Given the description of an element on the screen output the (x, y) to click on. 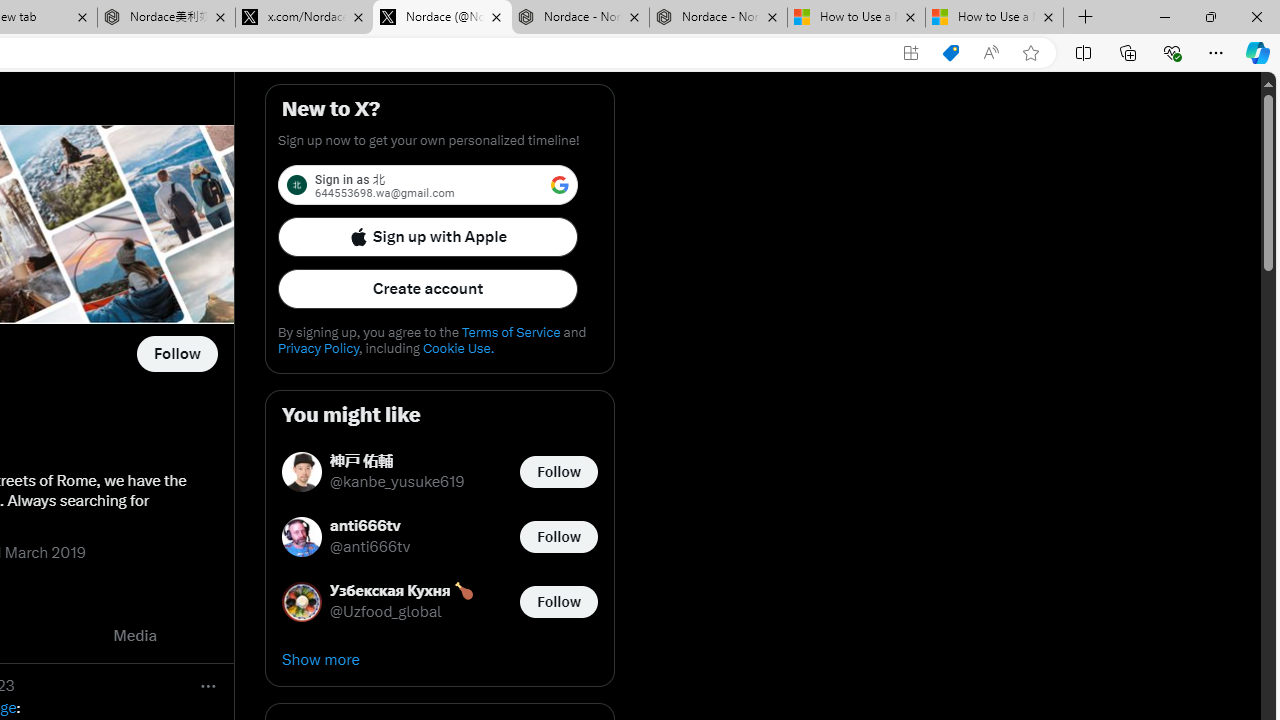
Follow @NordaceOfficial (176, 354)
Media (135, 636)
Follow @Uzfood_global (558, 600)
@Uzfood_global (386, 611)
Follow @anti666tv (558, 535)
anti666tv @anti666tv Follow @anti666tv (440, 536)
Create account (427, 288)
